Given the description of an element on the screen output the (x, y) to click on. 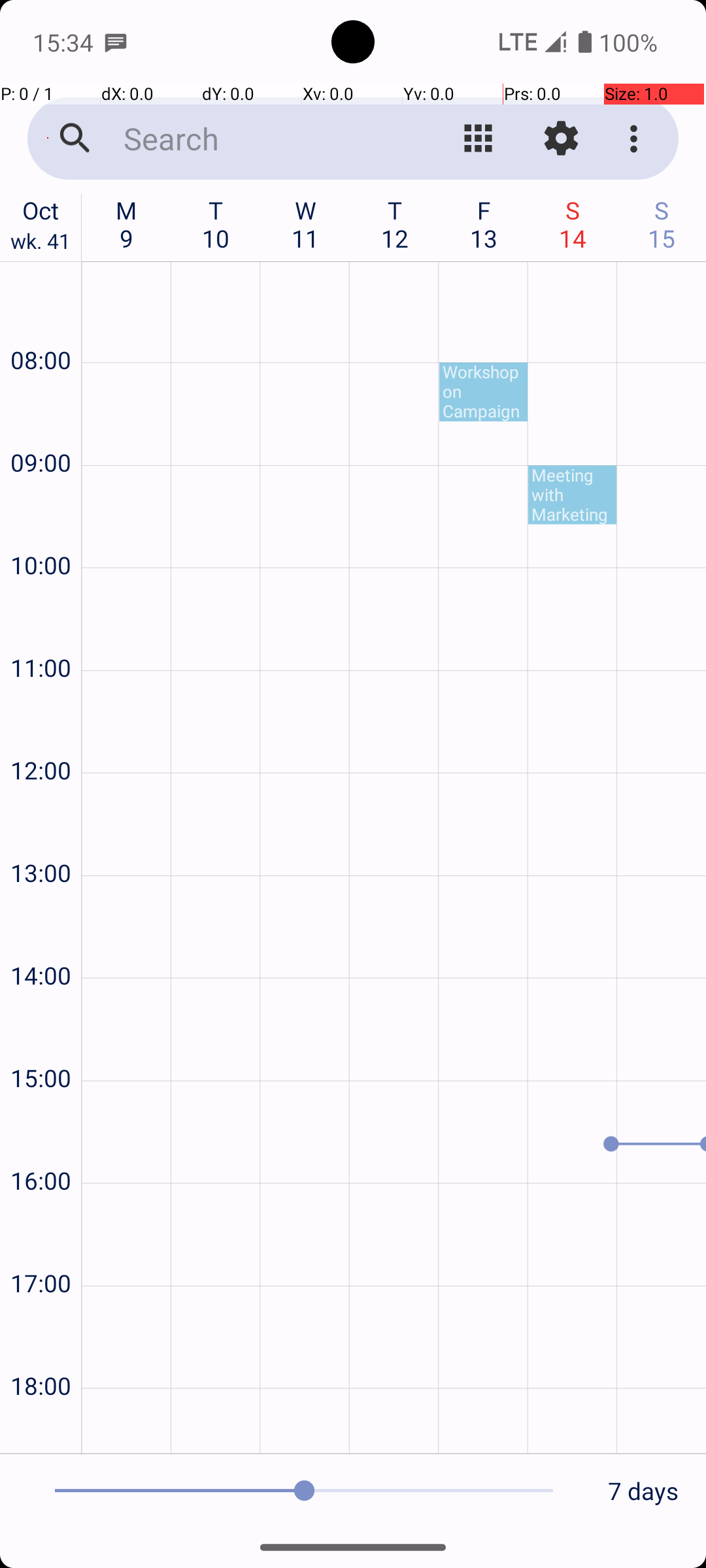
wk. 41 Element type: android.widget.TextView (40, 243)
7 days Element type: android.widget.TextView (642, 1490)
08:00 Element type: android.widget.TextView (40, 324)
10:00 Element type: android.widget.TextView (40, 529)
11:00 Element type: android.widget.TextView (40, 632)
12:00 Element type: android.widget.TextView (40, 735)
14:00 Element type: android.widget.TextView (40, 940)
15:00 Element type: android.widget.TextView (40, 1042)
18:00 Element type: android.widget.TextView (40, 1350)
19:00 Element type: android.widget.TextView (40, 1428)
M
9 Element type: android.widget.TextView (126, 223)
T
10 Element type: android.widget.TextView (215, 223)
W
11 Element type: android.widget.TextView (305, 223)
T
12 Element type: android.widget.TextView (394, 223)
F
13 Element type: android.widget.TextView (483, 223)
S
14 Element type: android.widget.TextView (572, 223)
S
15 Element type: android.widget.TextView (661, 223)
Workshop on Campaign Element type: android.widget.TextView (483, 391)
Meeting with Marketing Element type: android.widget.TextView (572, 494)
